Given the description of an element on the screen output the (x, y) to click on. 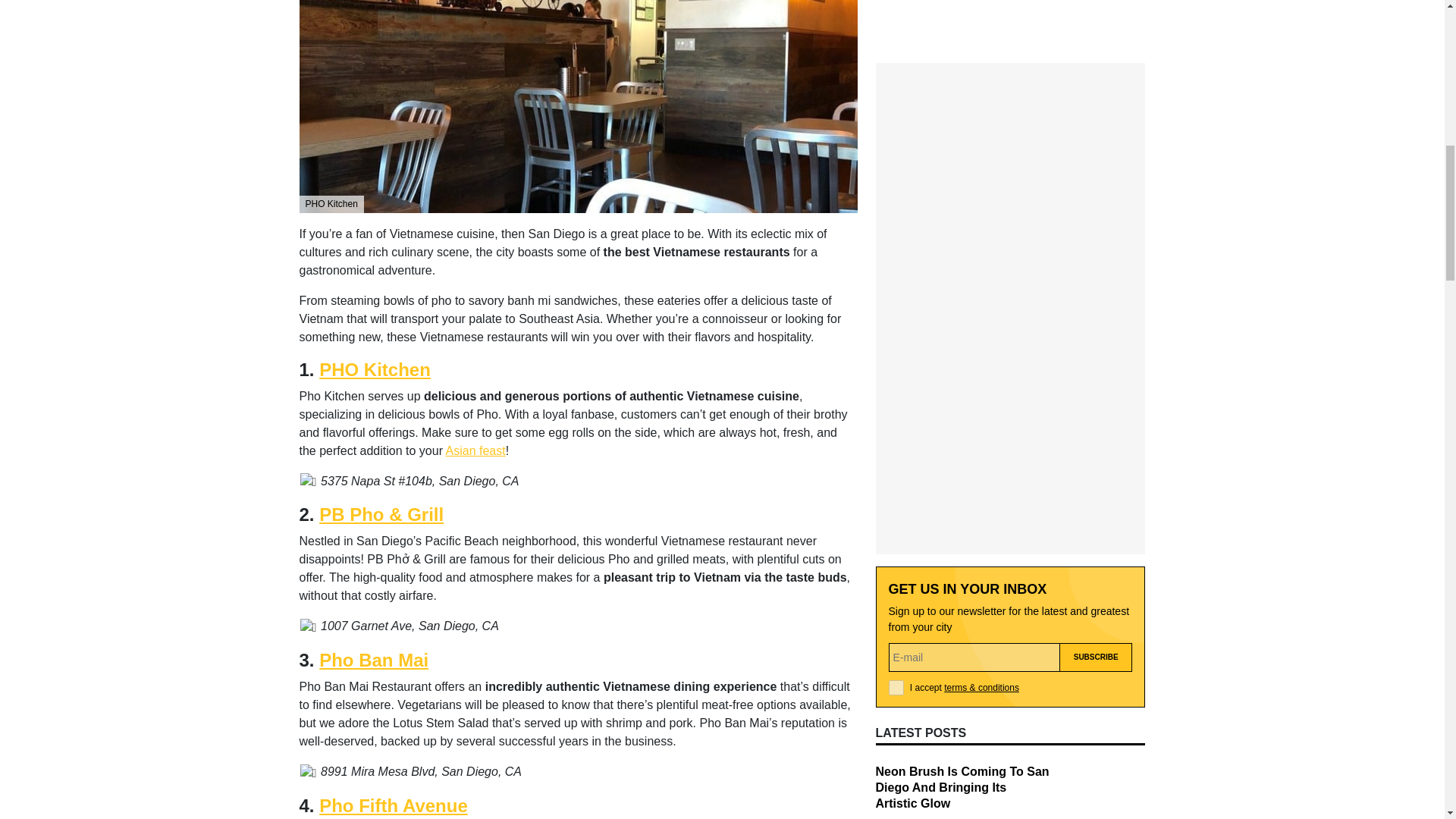
1 (896, 414)
Asian feast (475, 450)
AUGUST 9, 2024 (910, 671)
AUGUST 16, 2024 (913, 555)
Pho Ban Mai (373, 660)
Subscribe (1095, 384)
Pho Fifth Avenue (392, 805)
Subscribe (1095, 384)
